Given the description of an element on the screen output the (x, y) to click on. 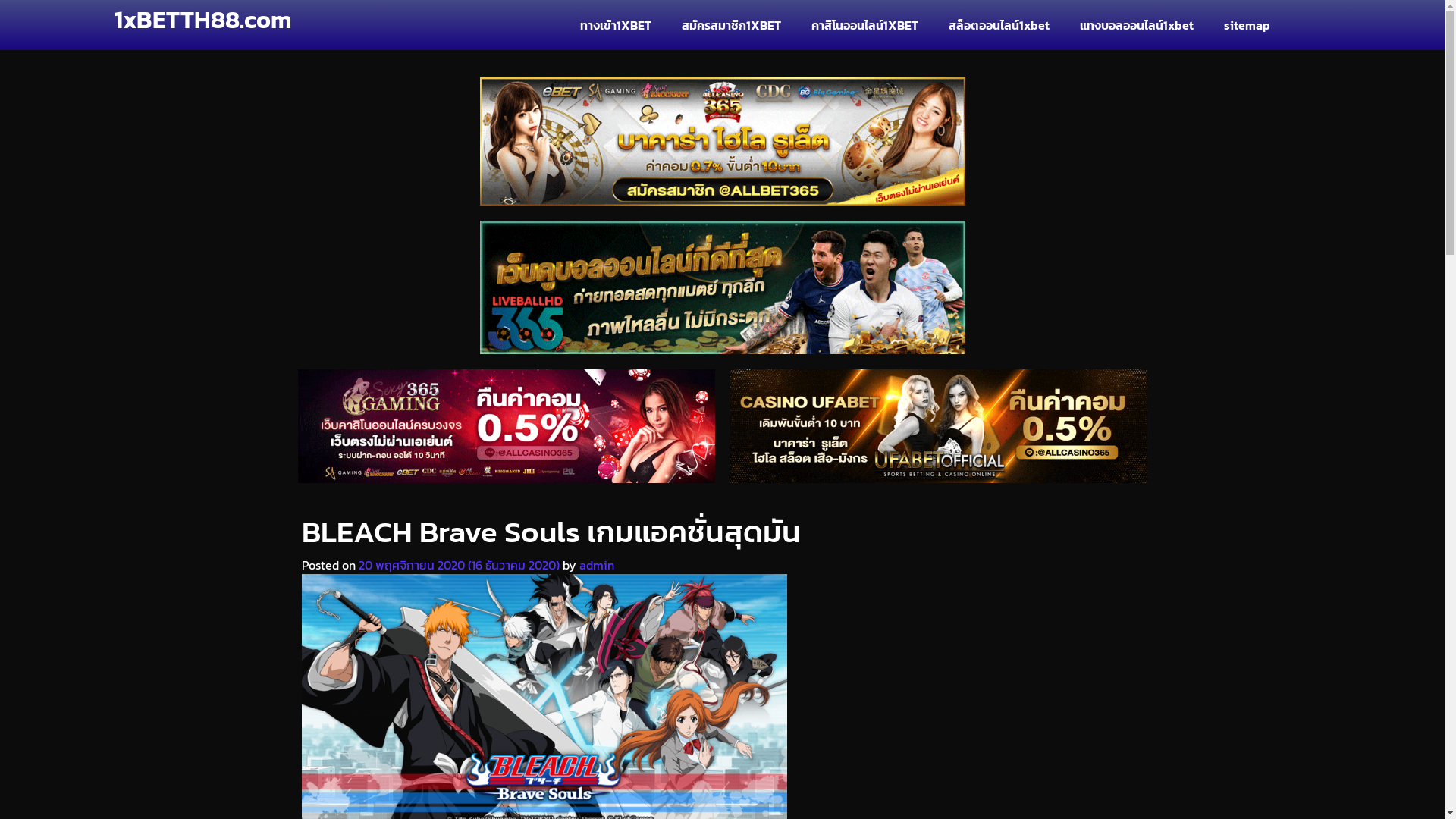
1xBETTH88.com Element type: text (202, 19)
sitemap Element type: text (1246, 24)
admin Element type: text (596, 564)
